Given the description of an element on the screen output the (x, y) to click on. 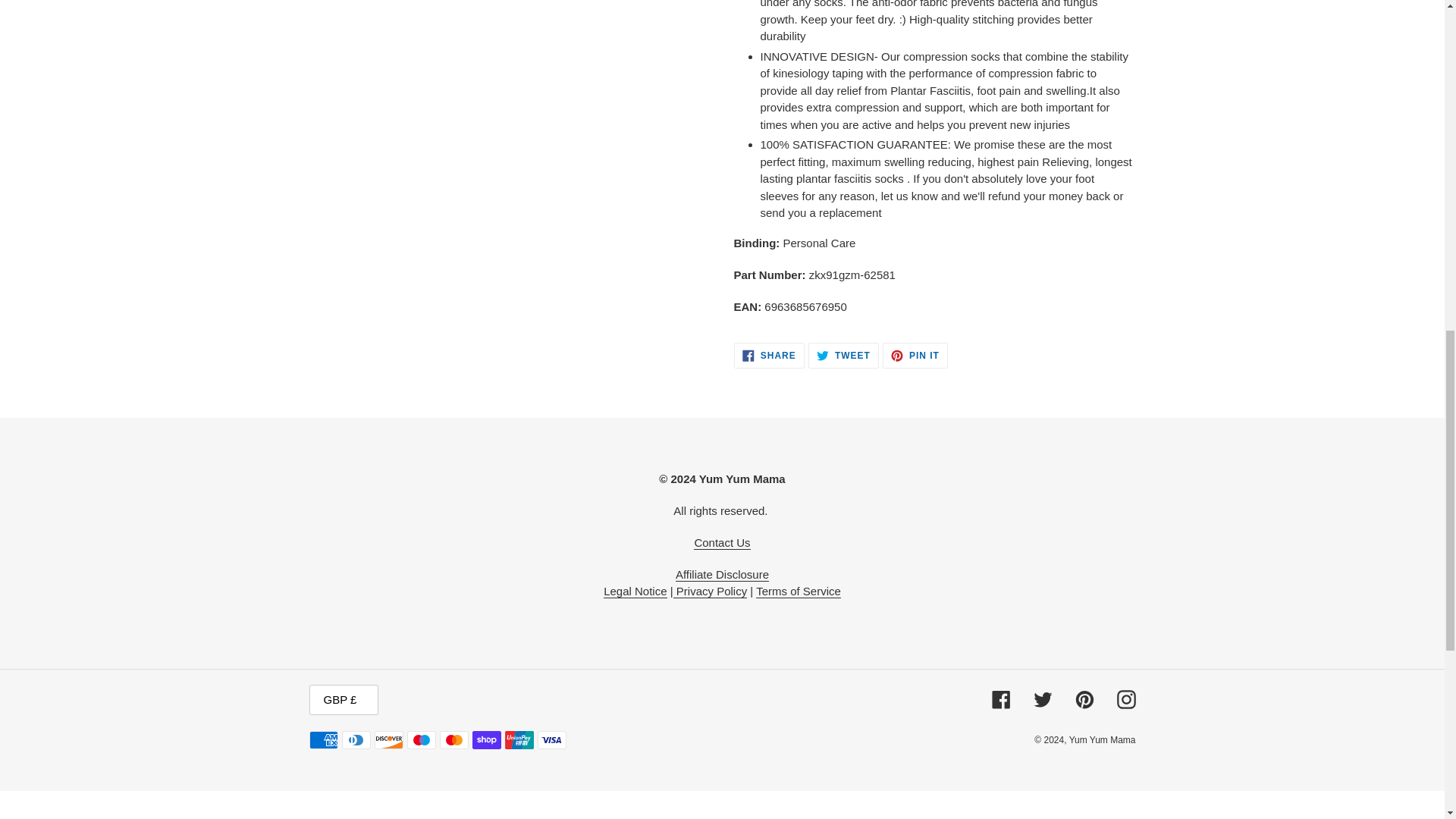
Privacy Policy (710, 591)
Terms of Service (798, 591)
Legal Notice (635, 591)
